Given the description of an element on the screen output the (x, y) to click on. 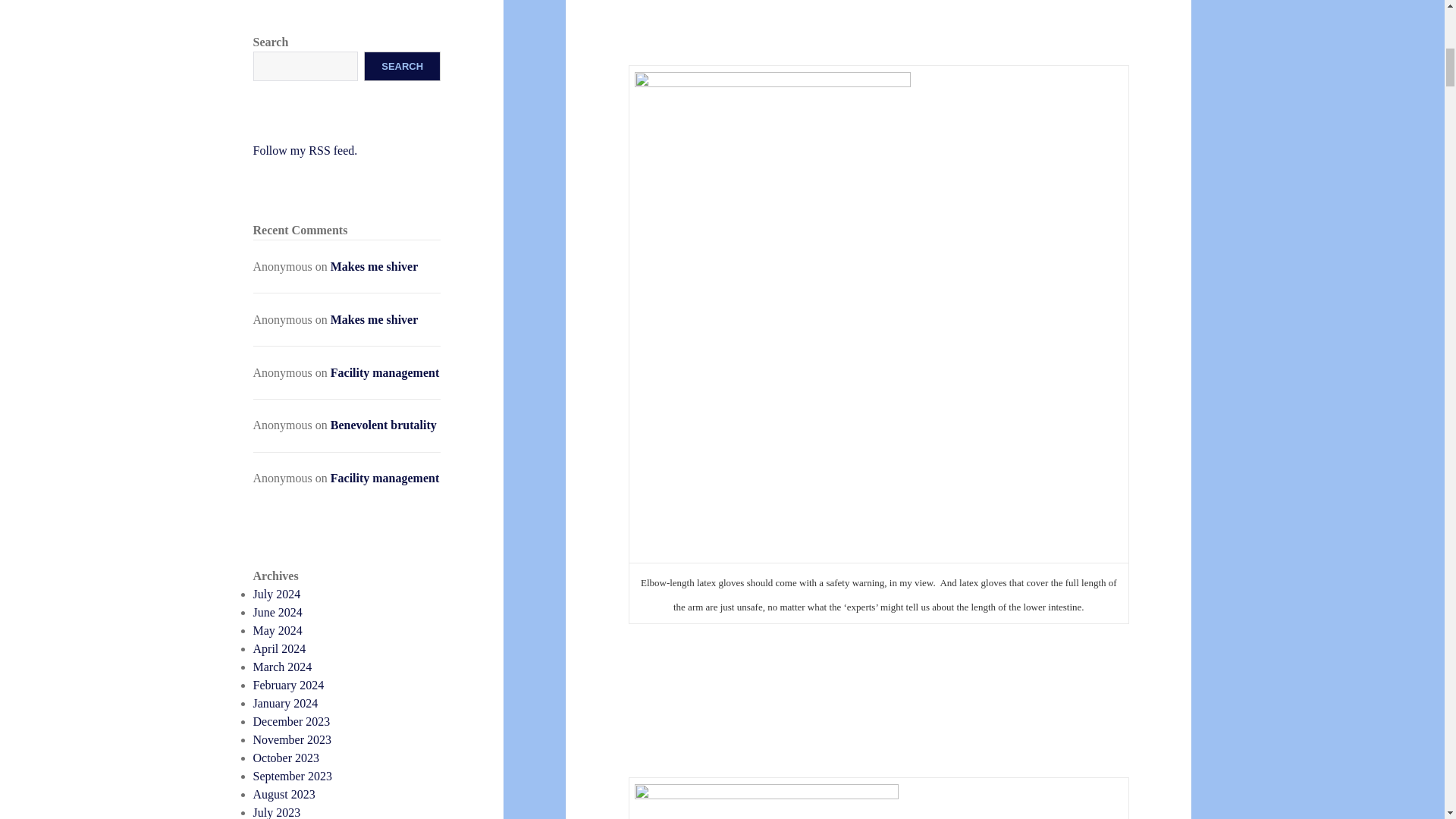
January 2024 (285, 703)
Makes me shiver (374, 318)
June 2024 (277, 612)
Makes me shiver (374, 266)
SEARCH (402, 66)
November 2023 (292, 739)
December 2023 (291, 721)
July 2024 (277, 594)
Follow my RSS feed. (305, 150)
February 2024 (288, 684)
May 2024 (277, 630)
Benevolent brutality (383, 424)
October 2023 (286, 757)
August 2023 (284, 793)
Facility management (384, 477)
